Given the description of an element on the screen output the (x, y) to click on. 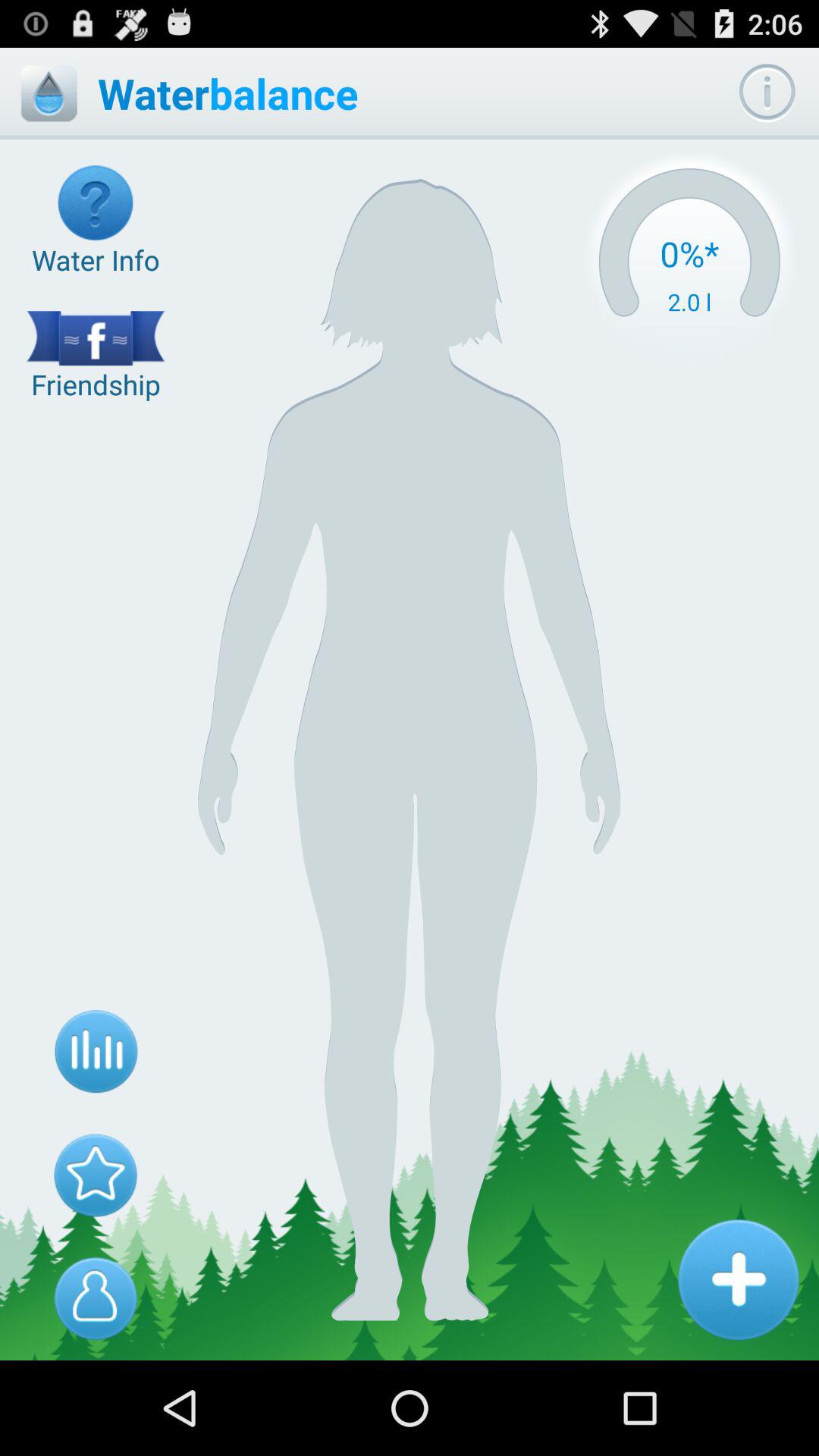
press item at the bottom right corner (738, 1279)
